Given the description of an element on the screen output the (x, y) to click on. 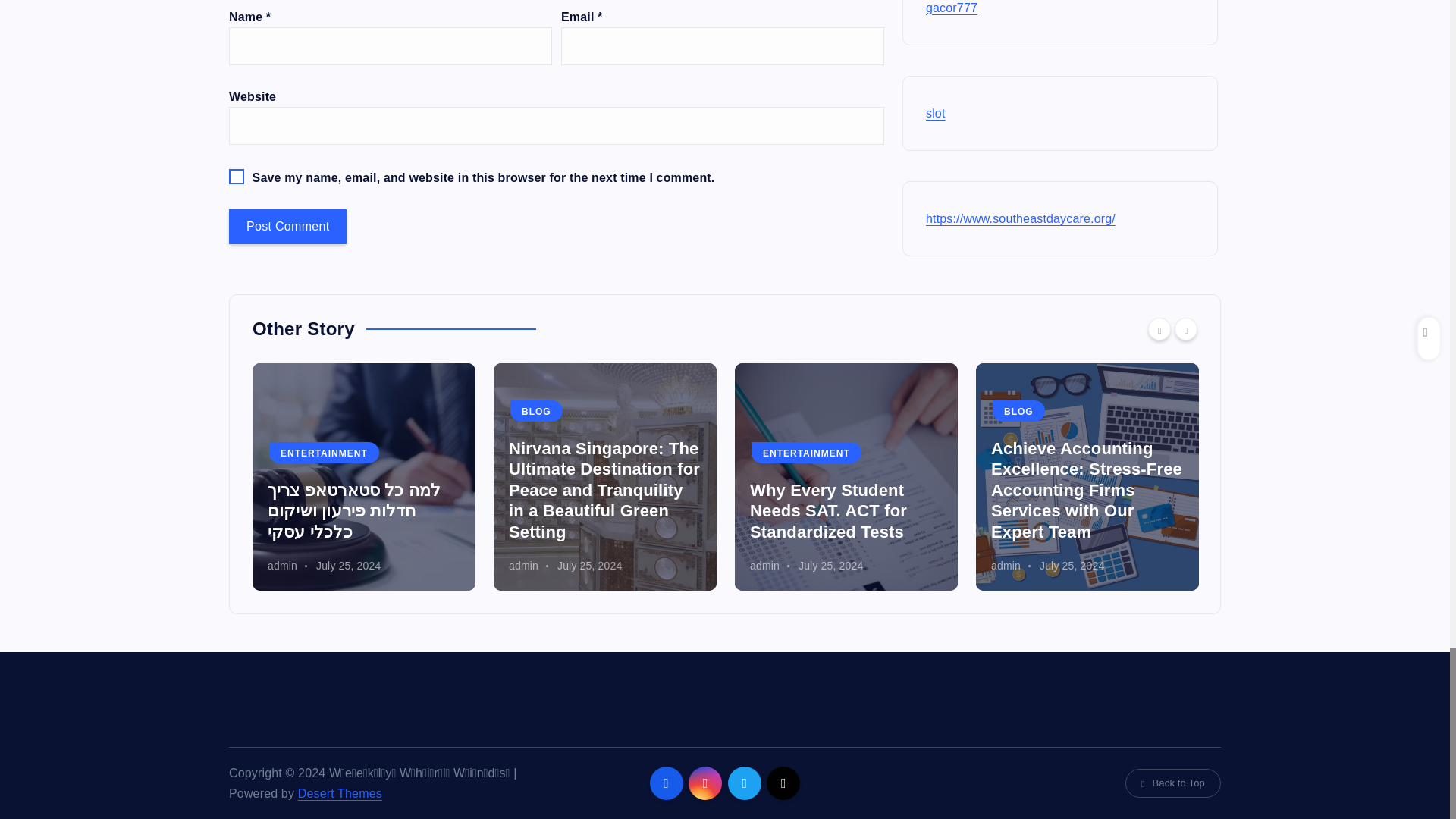
yes (236, 176)
Post Comment (287, 226)
